Given the description of an element on the screen output the (x, y) to click on. 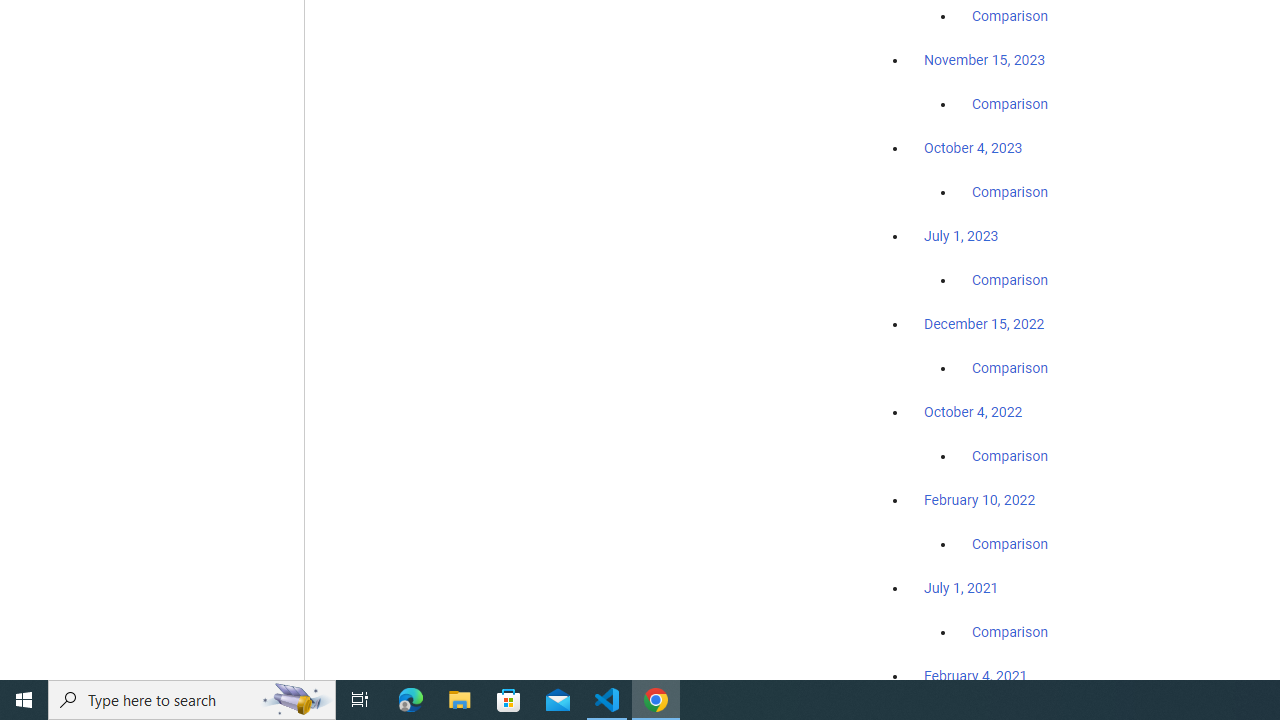
July 1, 2023 (961, 236)
October 4, 2022 (973, 412)
February 4, 2021 (975, 675)
October 4, 2023 (973, 148)
November 15, 2023 (984, 60)
February 10, 2022 (979, 500)
Comparison (1009, 631)
July 1, 2021 (961, 587)
December 15, 2022 (984, 323)
